Given the description of an element on the screen output the (x, y) to click on. 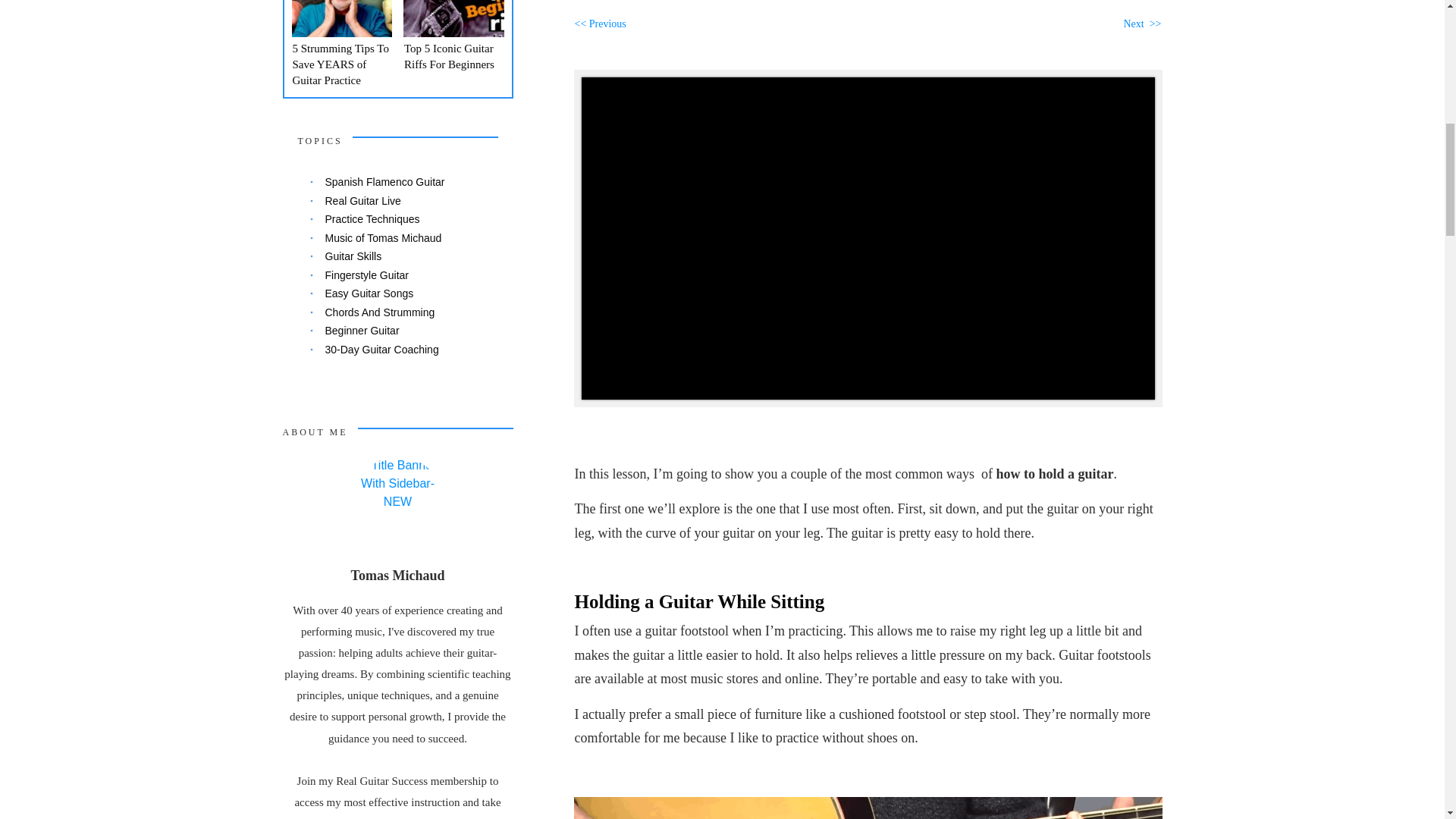
Title Banner With Sidebar-NEW (397, 500)
Top 5 Iconic Guitar Riffs For Beginners (449, 56)
5 Strumming Tips To Save YEARS of Guitar Practice (340, 64)
how to hold a guitar (867, 807)
